Given the description of an element on the screen output the (x, y) to click on. 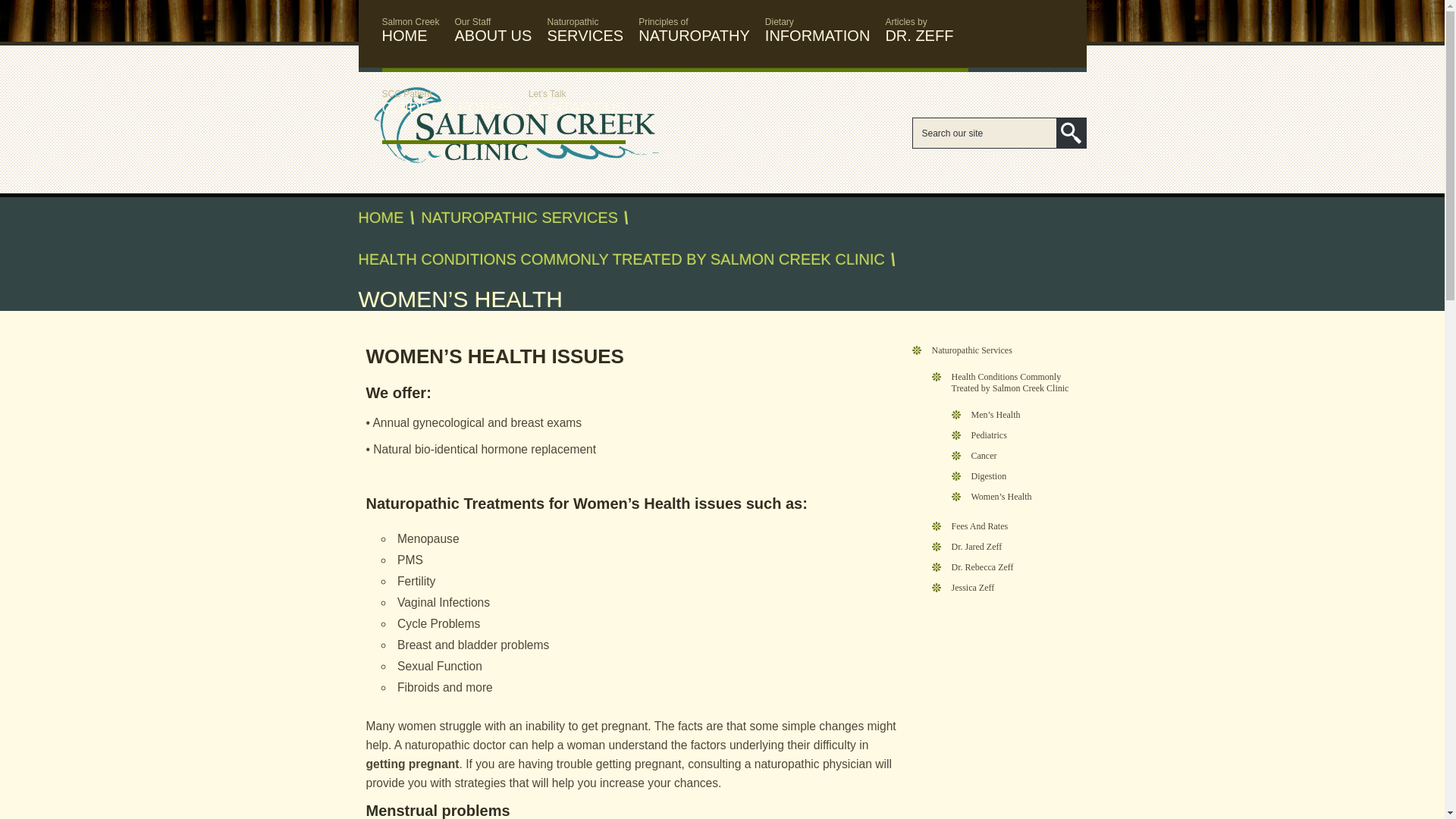
Search our site (919, 31)
Naturopathic Healthcare (585, 31)
Naturopathic Healthcare (694, 31)
